Given the description of an element on the screen output the (x, y) to click on. 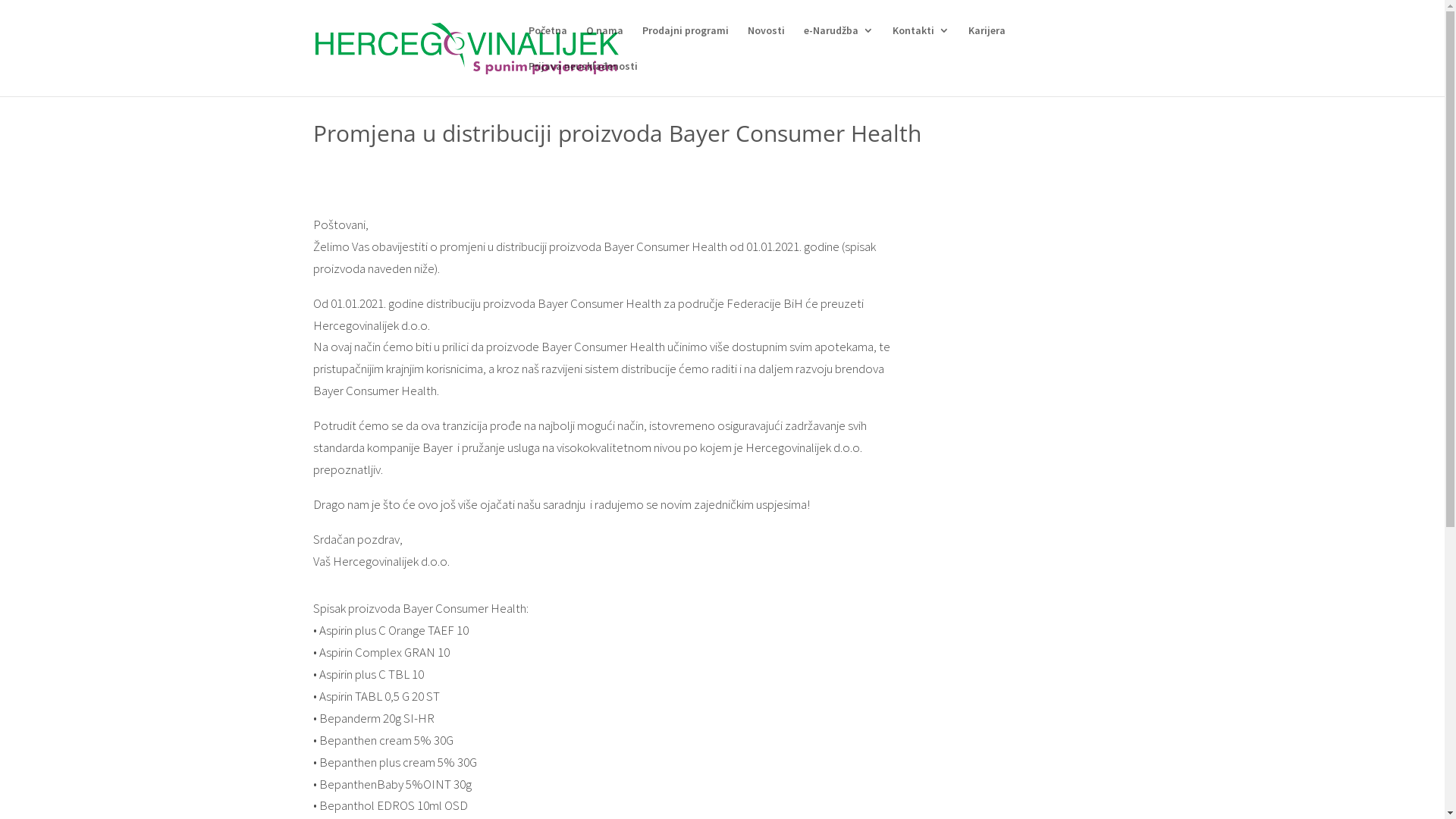
Karijera Element type: text (985, 42)
Kontakti Element type: text (919, 42)
Prodajni programi Element type: text (684, 42)
Novosti Element type: text (765, 42)
O nama Element type: text (603, 42)
